Given the description of an element on the screen output the (x, y) to click on. 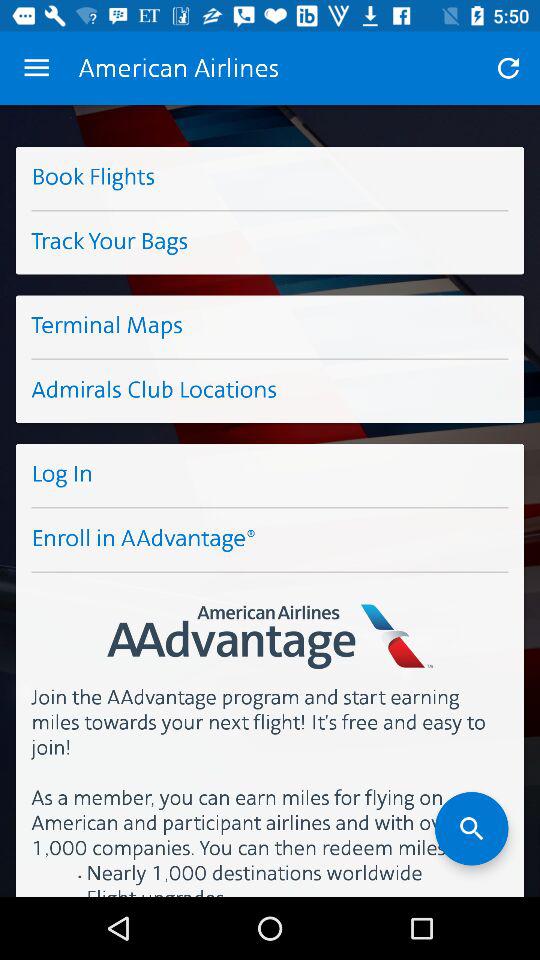
choose the icon next to american airlines (36, 68)
